Given the description of an element on the screen output the (x, y) to click on. 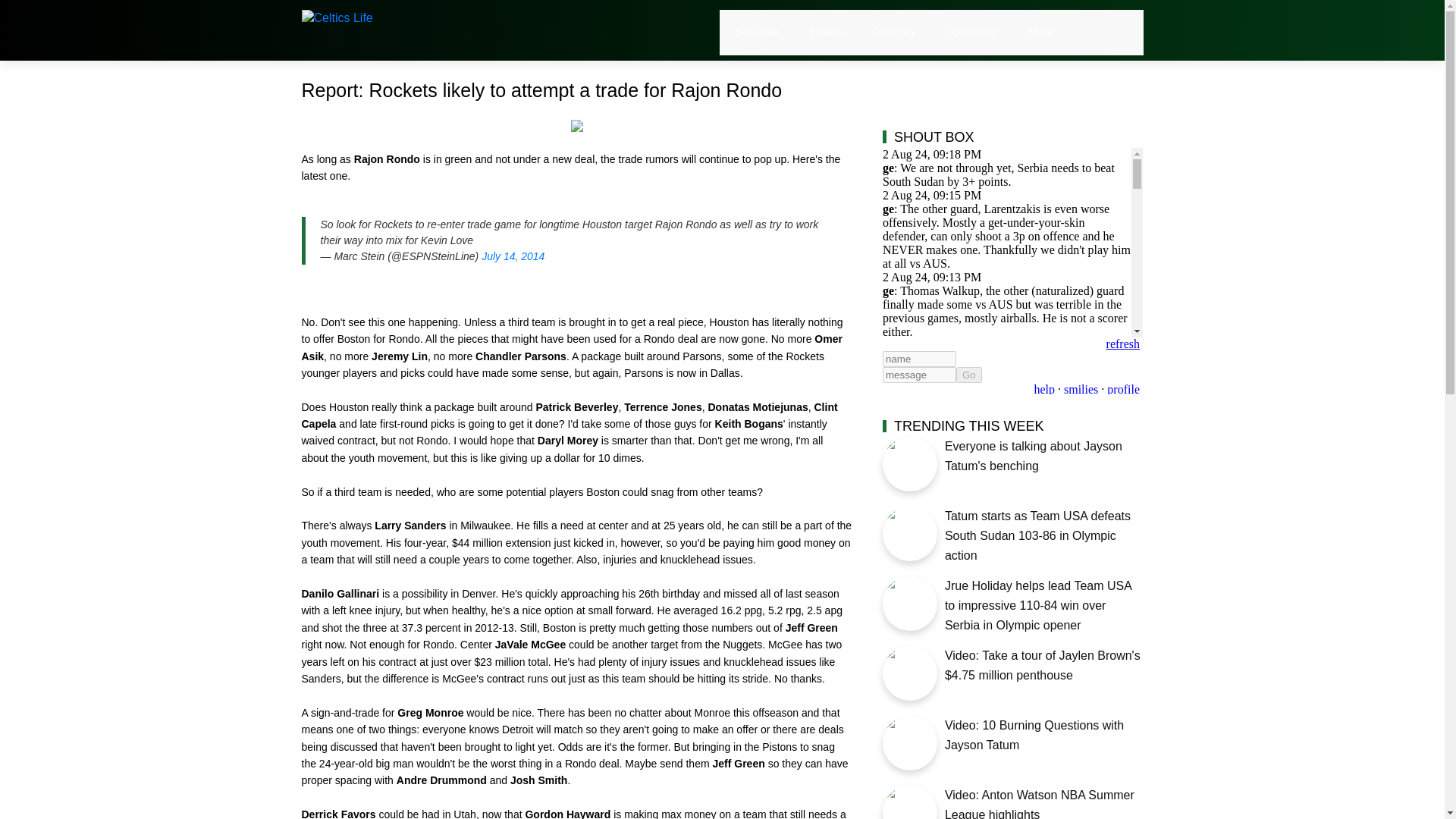
Comments (969, 32)
Features (893, 32)
Schedule (756, 32)
July 14, 2014 (512, 256)
